Given the description of an element on the screen output the (x, y) to click on. 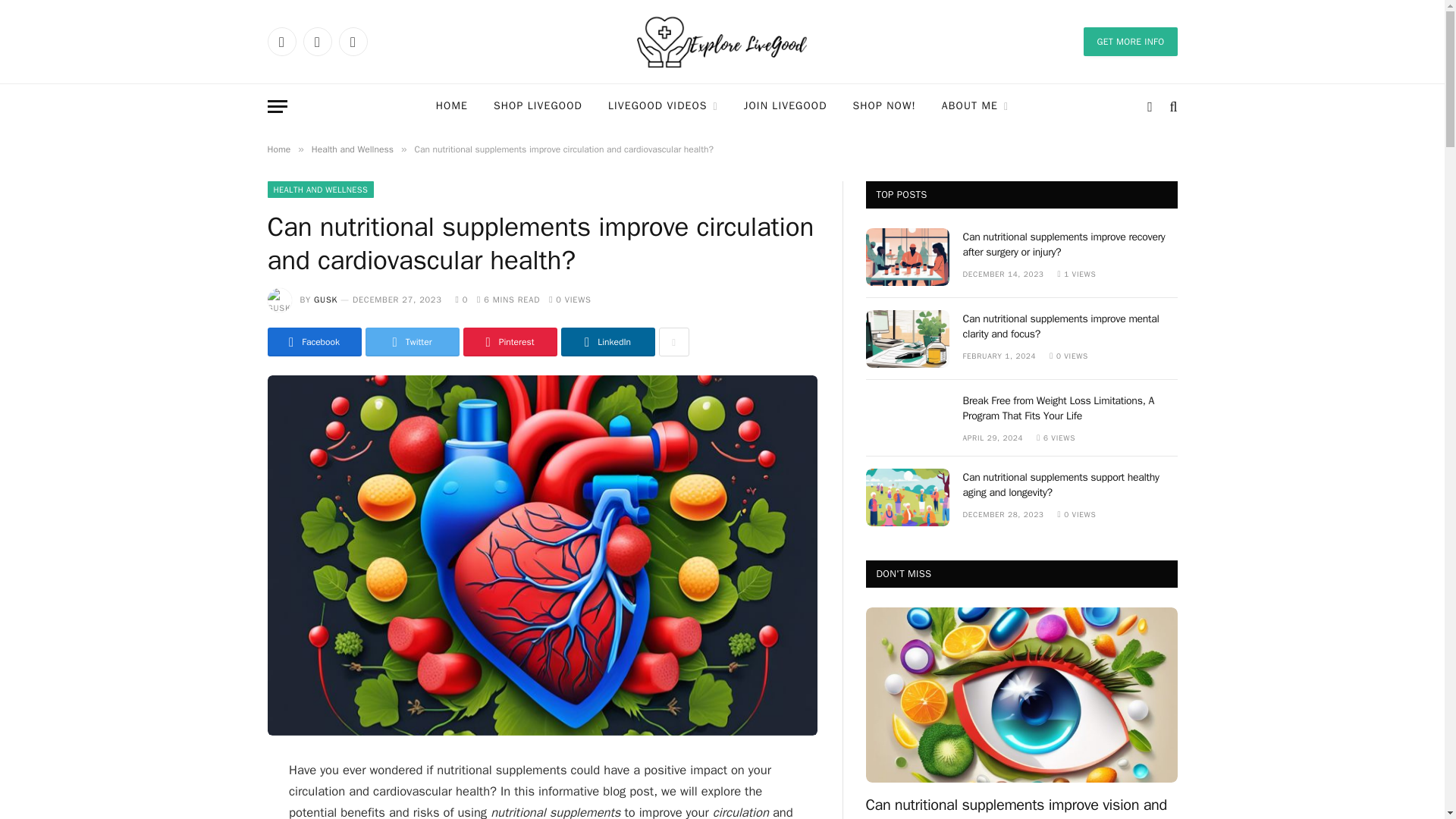
GET MORE INFO (1129, 41)
Explore LiveGood (722, 41)
GUSK (325, 299)
LIVEGOOD VIDEOS (662, 106)
HEALTH AND WELLNESS (320, 189)
JOIN LIVEGOOD (785, 106)
SHOP LIVEGOOD (537, 106)
Home (277, 149)
ABOUT ME (975, 106)
Facebook (280, 41)
Share on Facebook (313, 341)
SHOP NOW! (884, 106)
Health and Wellness (352, 149)
0 Article Views (569, 299)
Posts by GusK (325, 299)
